Given the description of an element on the screen output the (x, y) to click on. 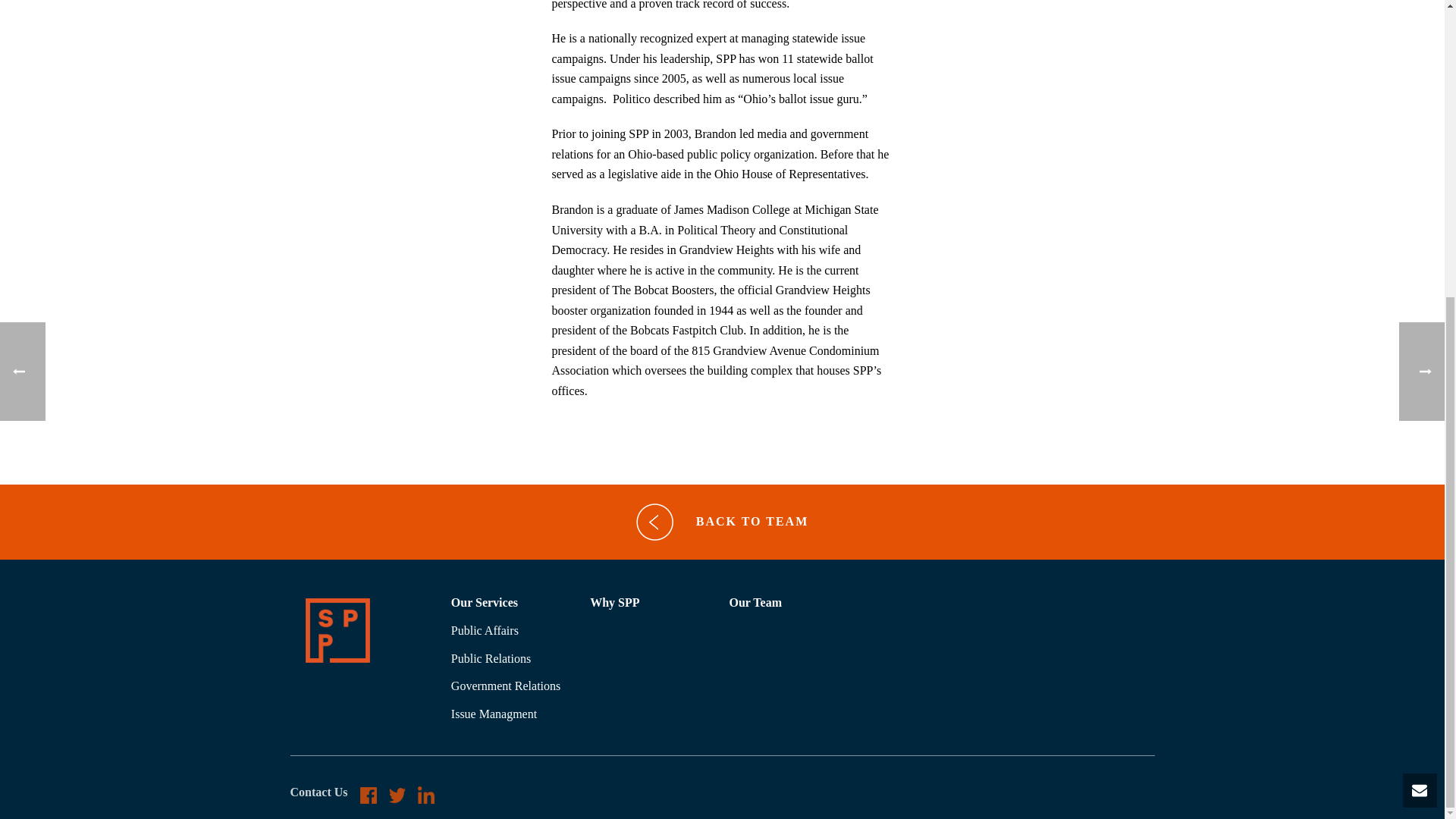
icon-three-people (336, 630)
